Given the description of an element on the screen output the (x, y) to click on. 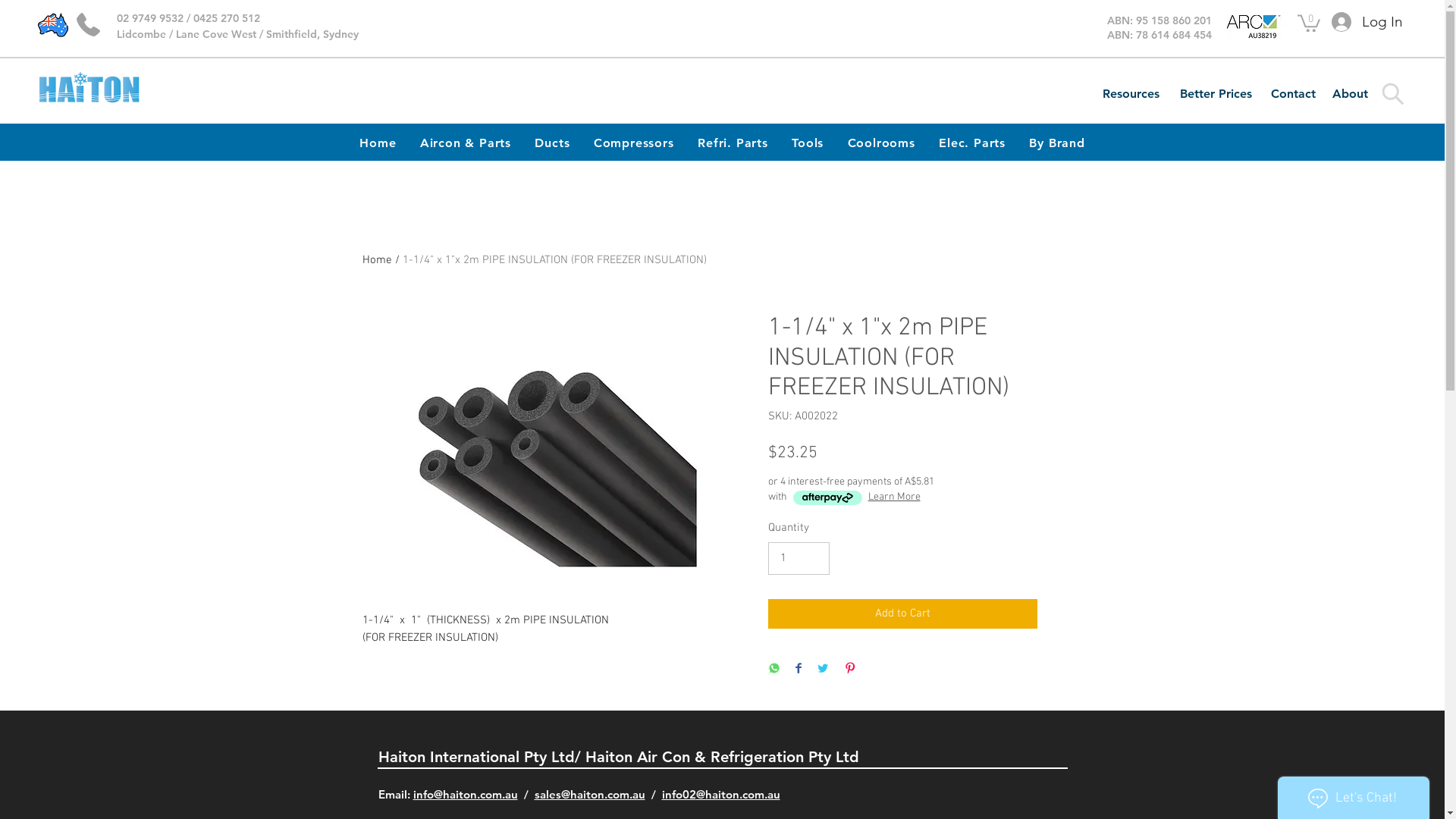
Contact Element type: text (1292, 93)
Refri. Parts Element type: text (732, 142)
About Element type: text (1349, 93)
Home Element type: text (377, 259)
  /   Element type: text (652, 794)
info@haiton.com.au Element type: text (464, 794)
Add to Cart Element type: text (901, 613)
Tools Element type: text (806, 142)
Better Prices Element type: text (1215, 93)
Log In Element type: text (1358, 22)
@haiton.com.au Element type: text (738, 794)
Aircon & Parts Element type: text (465, 142)
Compressors Element type: text (633, 142)
Ducts Element type: text (552, 142)
Resources Element type: text (1130, 93)
Learn More Element type: text (893, 497)
Coolrooms Element type: text (881, 142)
  /   Element type: text (525, 794)
1-1/4" x 1"x 2m PIPE INSULATION (FOR FREEZER INSULATION) Element type: text (553, 259)
Home Element type: text (377, 142)
sales@haiton.com.au Element type: text (588, 794)
0 Element type: text (1308, 21)
Elec. Parts Element type: text (971, 142)
iconfinder_Magnifier_magnifying_glass_se Element type: hover (1392, 93)
